Given the description of an element on the screen output the (x, y) to click on. 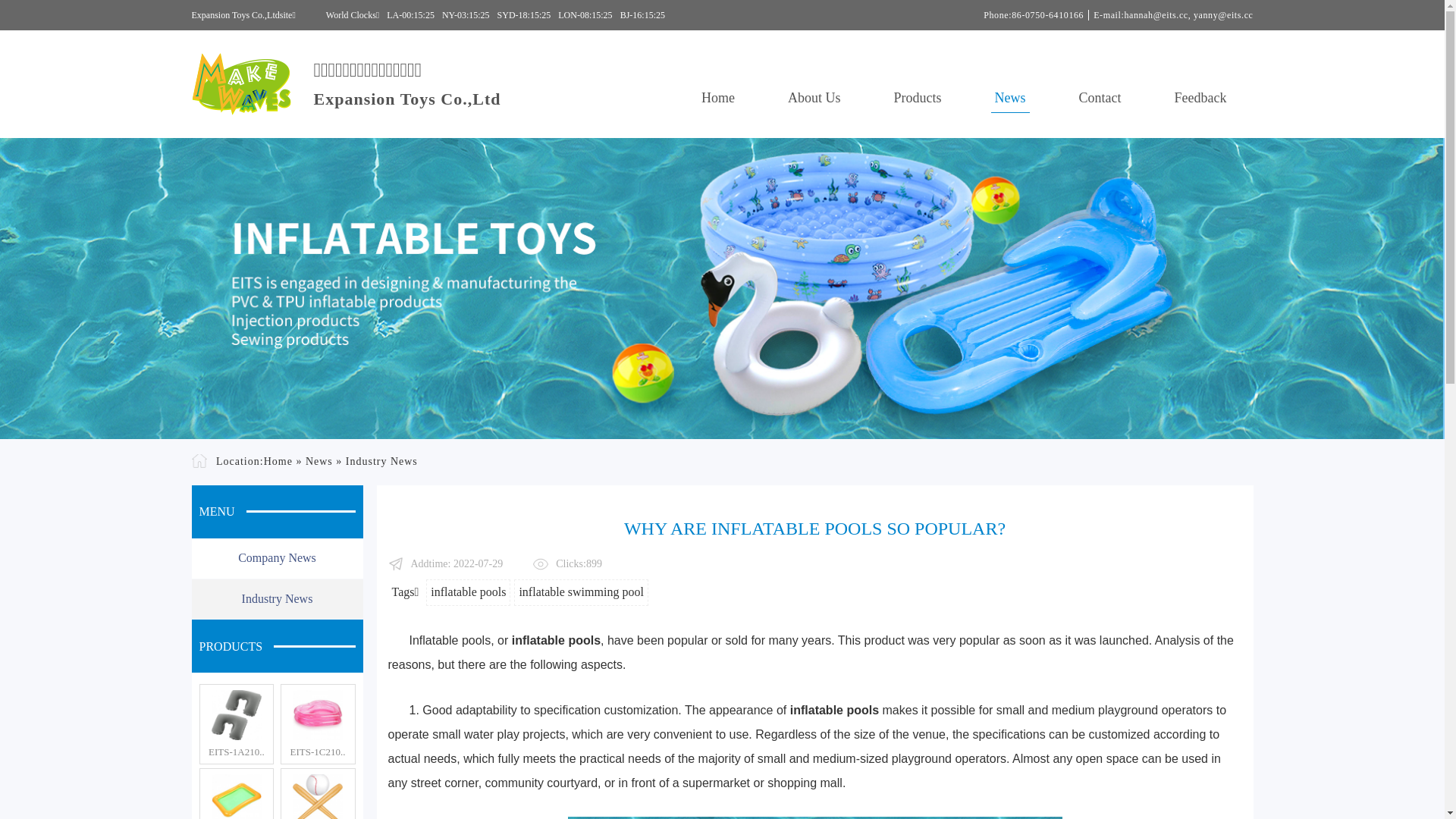
inflatable pools Element type: text (834, 709)
News Element type: text (1010, 98)
Products Element type: text (917, 98)
EITS-1A210.. Element type: text (236, 752)
EITS-1A21019 Element type: hover (236, 714)
inflatable pools Element type: text (468, 592)
E-mail:hannah@eits.cc, yanny@eits.cc Element type: text (1170, 14)
Phone:86-0750-6410166 Element type: text (1033, 14)
Contact Element type: text (1100, 98)
Feedback Element type: text (1200, 98)
About Us Element type: text (814, 98)
Home Element type: text (277, 461)
Industry News Element type: text (381, 461)
Industry News Element type: text (276, 599)
News Element type: text (318, 461)
inflatable pools Element type: text (555, 639)
inflatable swimming pool Element type: text (580, 592)
EITS-1C210.. Element type: text (317, 752)
banner Element type: hover (722, 288)
EITS-1C21014 Element type: hover (317, 714)
Home Element type: text (717, 98)
Company News Element type: text (276, 558)
